Given the description of an element on the screen output the (x, y) to click on. 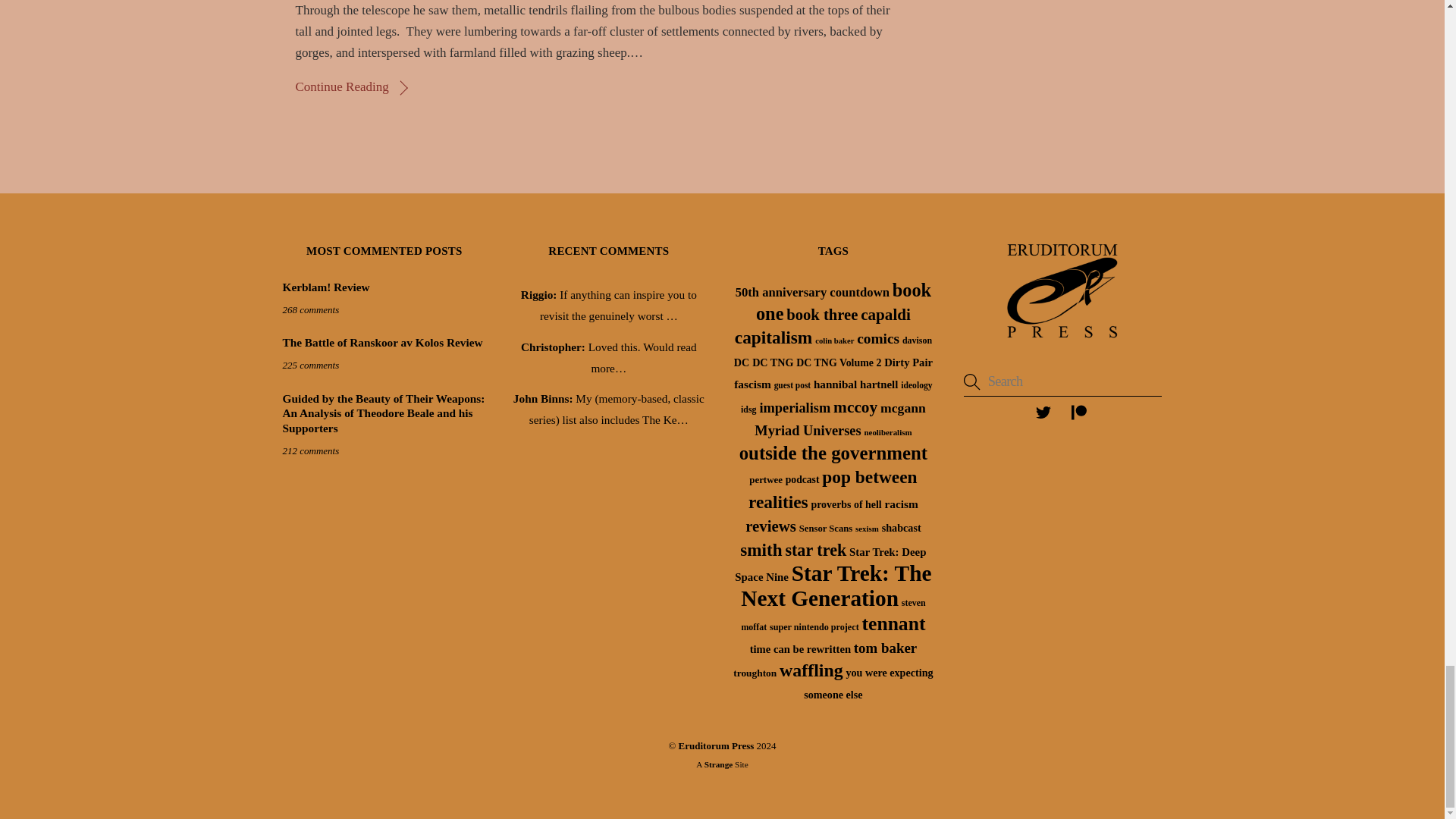
Eruditorum Press Logo (1062, 291)
Eruditorum Press (1062, 342)
Strange Specimen (718, 764)
Search (1062, 381)
